Given the description of an element on the screen output the (x, y) to click on. 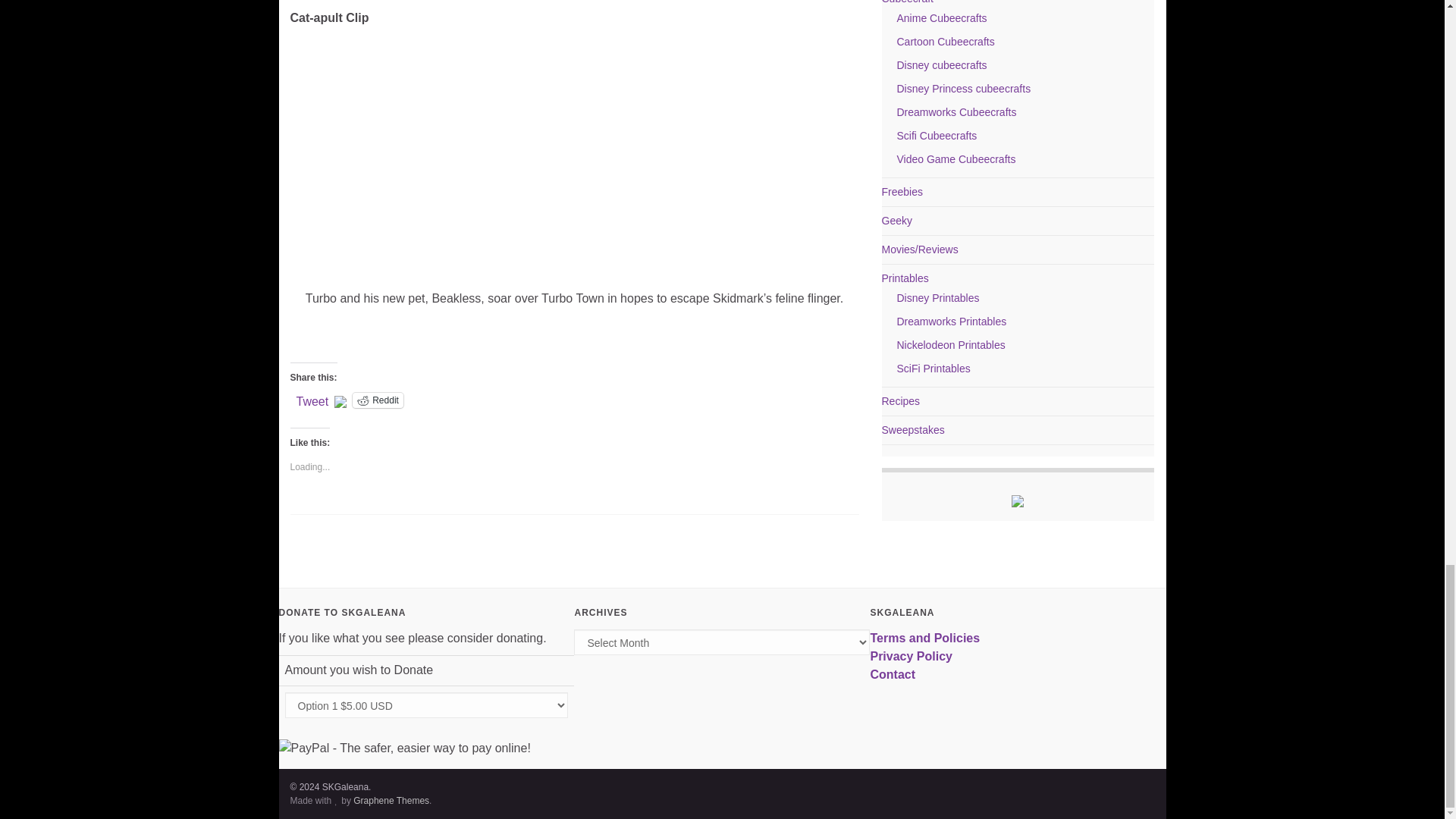
Click to share on Reddit (377, 400)
